Given the description of an element on the screen output the (x, y) to click on. 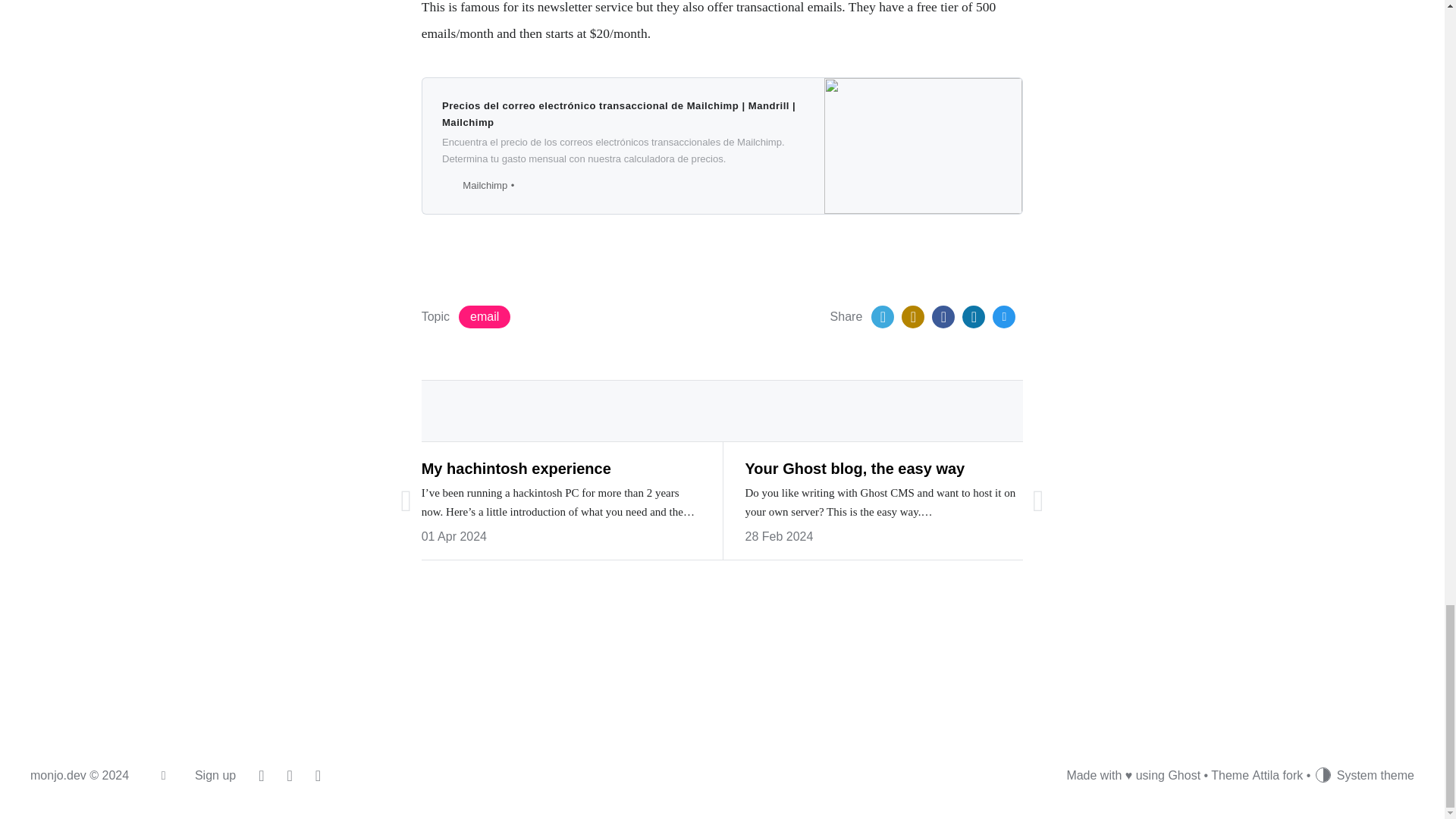
Attila fork (1277, 775)
LinkedIn (973, 316)
Sign up (215, 775)
Mastodon (912, 316)
email (484, 316)
Facebook (943, 316)
Email (1003, 316)
Twitter (881, 316)
Ghost (1183, 775)
System theme (1363, 775)
